Given the description of an element on the screen output the (x, y) to click on. 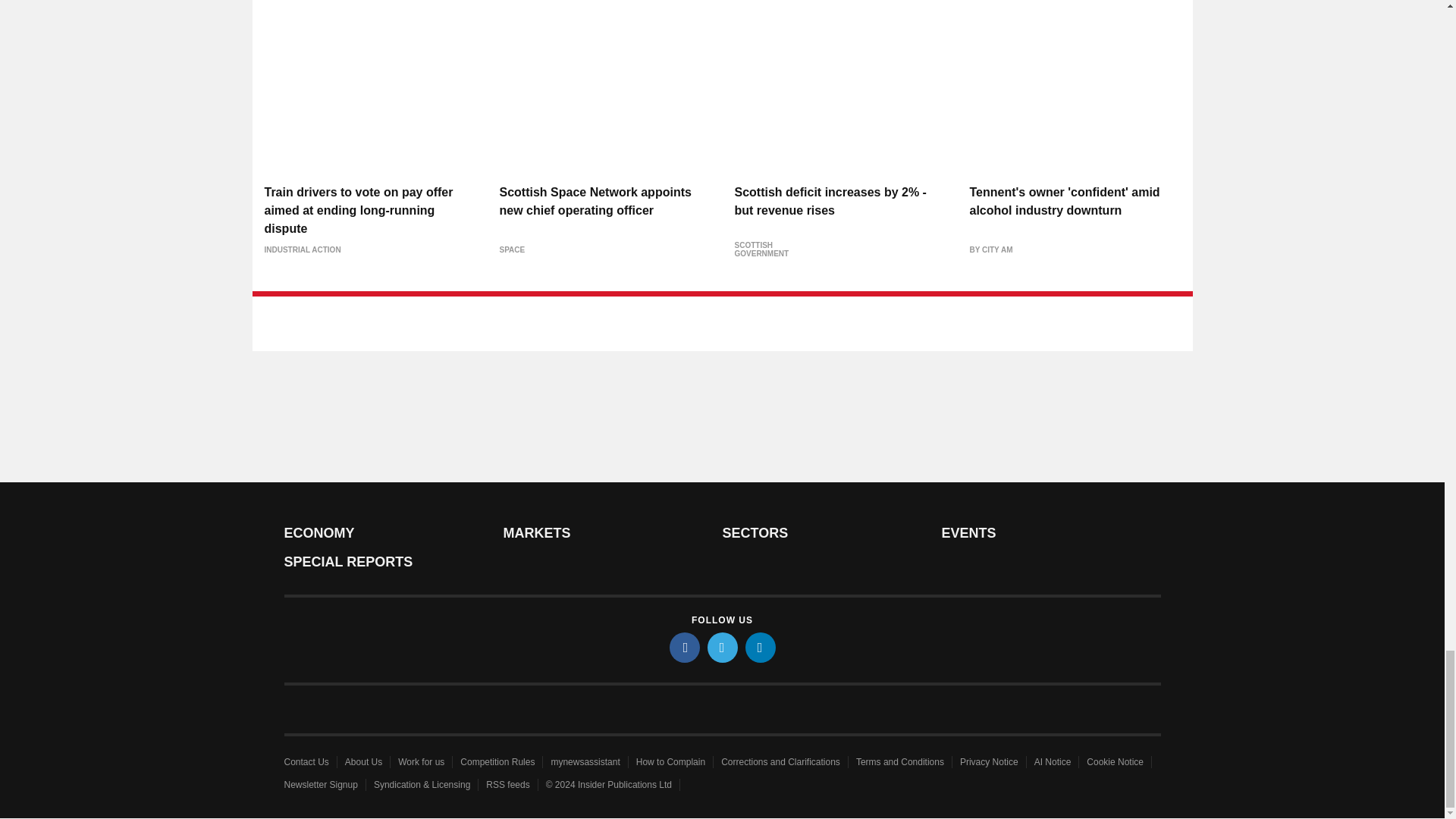
facebook (683, 647)
twitter (721, 647)
linkedin (759, 647)
